Given the description of an element on the screen output the (x, y) to click on. 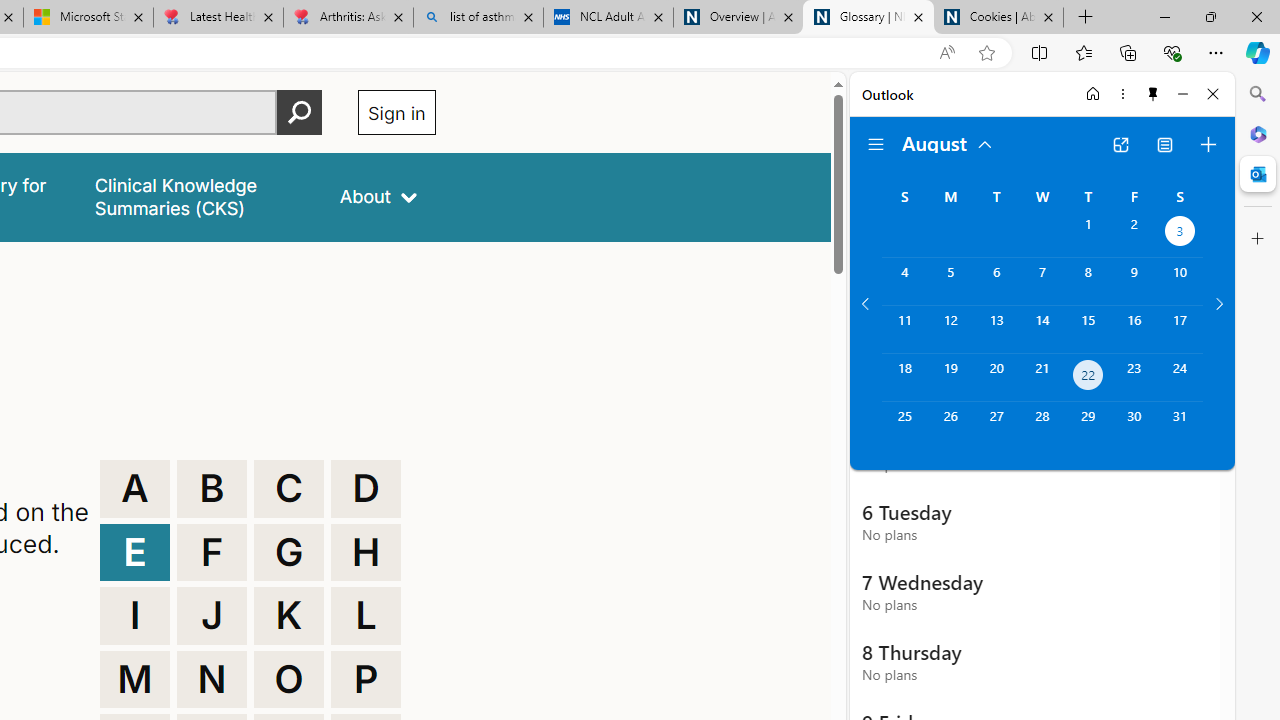
Friday, August 16, 2024.  (1134, 329)
Collections (1128, 52)
Saturday, August 24, 2024.  (1180, 377)
Wednesday, August 28, 2024.  (1042, 425)
Monday, August 12, 2024.  (950, 329)
Settings and more (Alt+F) (1215, 52)
View Switcher. Current view is Agenda view (1165, 144)
Home (1093, 93)
About (378, 196)
A (134, 488)
Sunday, August 4, 2024.  (904, 281)
Close tab (1048, 16)
Cookies | About | NICE (998, 17)
D (365, 488)
E (134, 551)
